Given the description of an element on the screen output the (x, y) to click on. 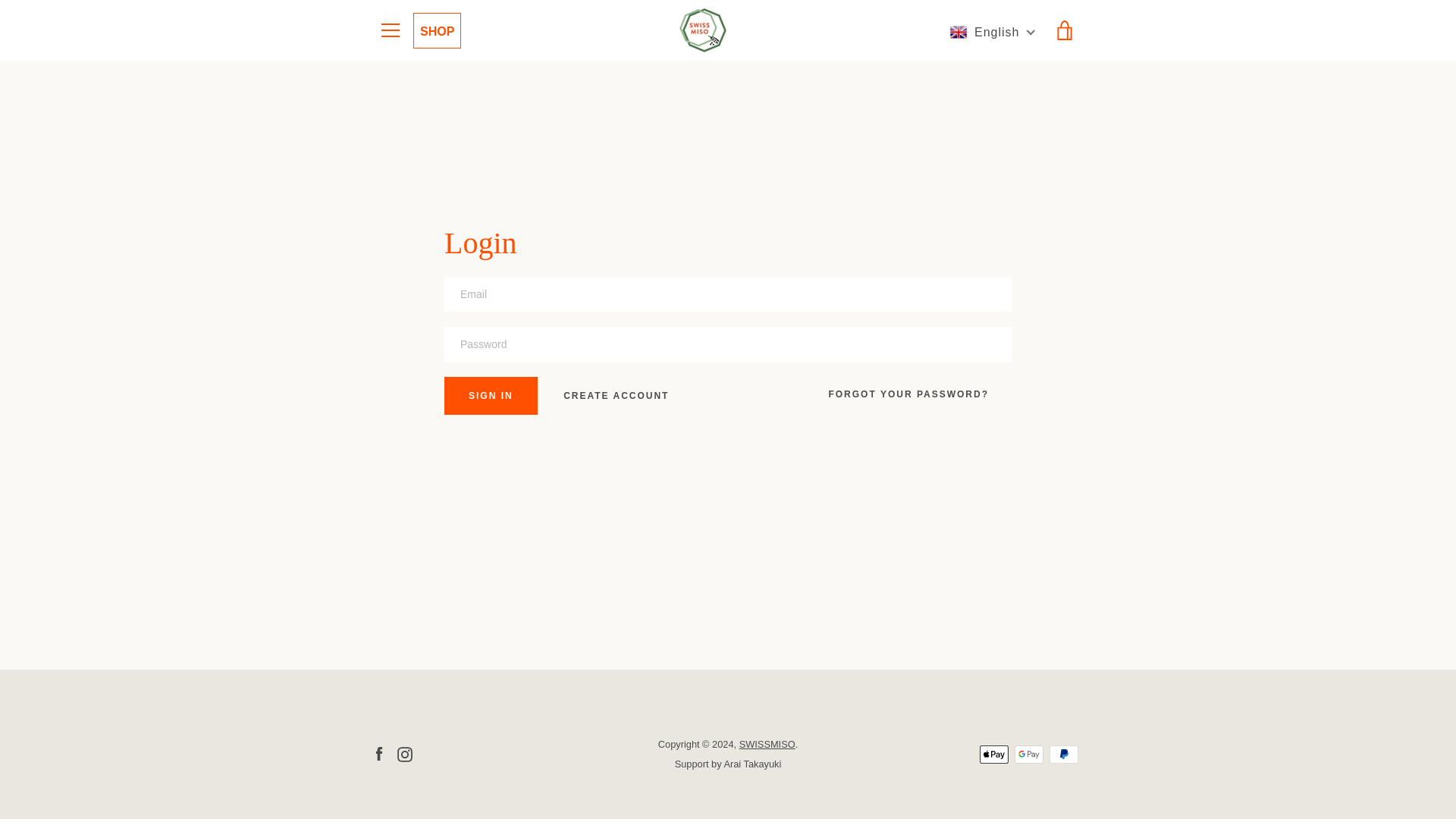
Instagram (404, 753)
SWISSMISO (766, 744)
VIEW CART (1065, 30)
SHOP (437, 30)
Google Pay (1028, 754)
MENU (390, 30)
Sign In (490, 395)
Apple Pay (994, 754)
Sign In (490, 395)
Facebook (379, 753)
PayPal (1063, 754)
SWISSMISO on Instagram (404, 753)
SWISSMISO on Facebook (379, 753)
FORGOT YOUR PASSWORD? (908, 393)
